Given the description of an element on the screen output the (x, y) to click on. 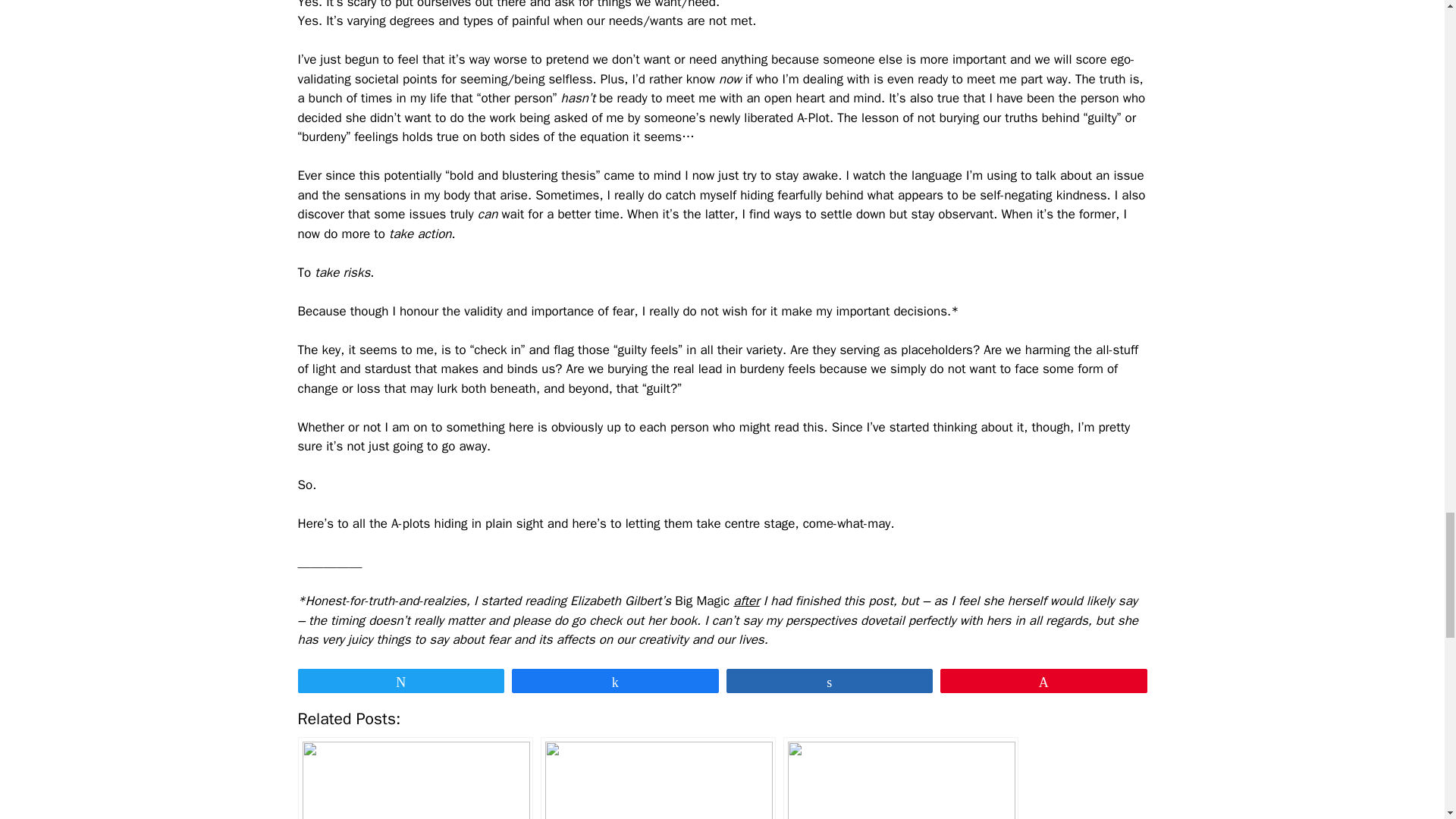
The Weirdness that Tried to Eat All the Plots (414, 778)
On the Habit of Finding Better Words Part 2 (900, 778)
On the Habit of Finding Better Words Part 2 (900, 778)
The Weirdness that Tried to Eat All the Plots (414, 778)
On the Habit of Finding Better Words Part 3 (658, 778)
On the Habit of Finding Better Words Part 3 (658, 778)
